Given the description of an element on the screen output the (x, y) to click on. 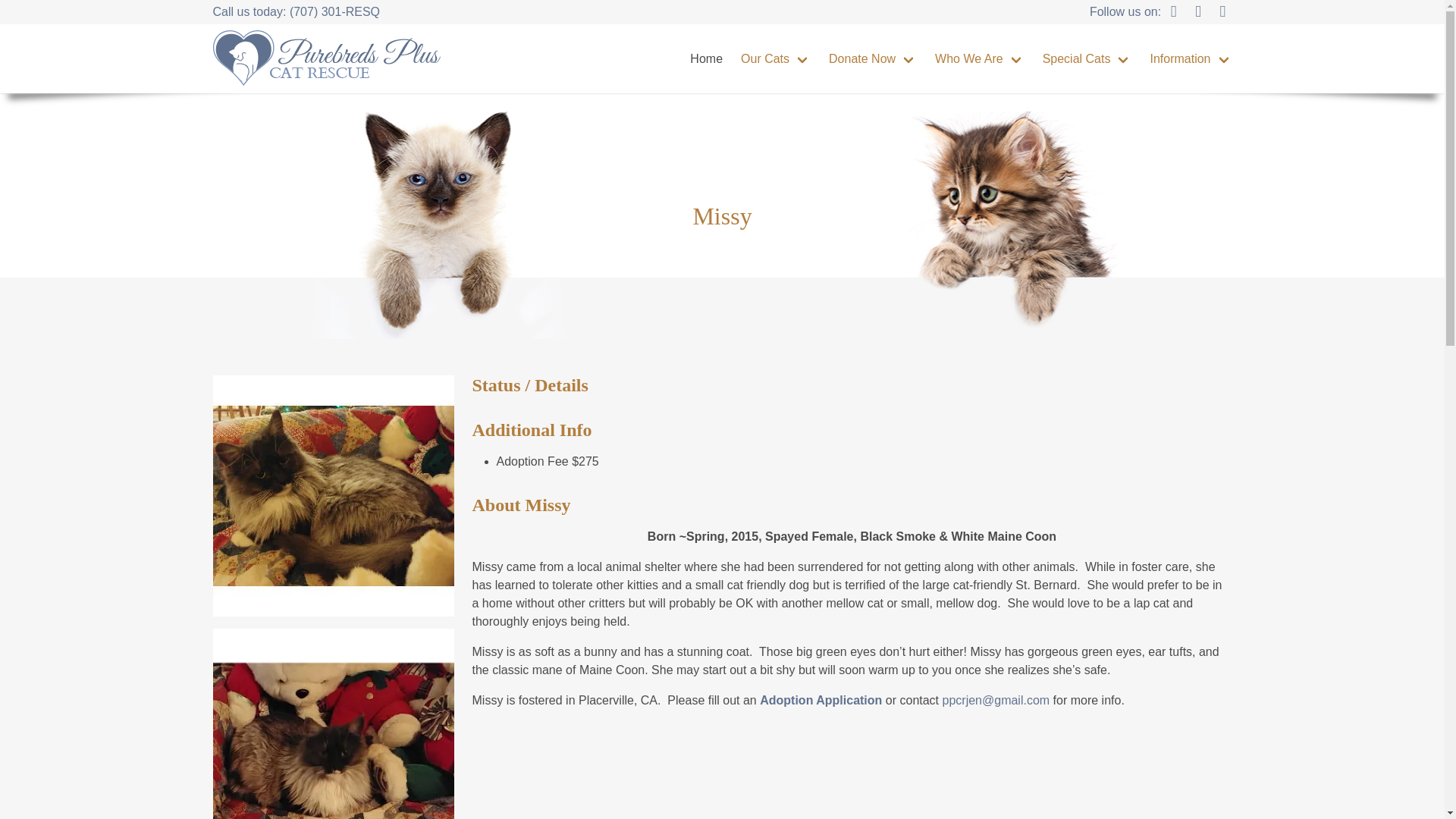
Information (1190, 58)
Special Cats (1087, 58)
Adoption Application (821, 699)
Our Cats (775, 58)
Who We Are (979, 58)
Donate Now (872, 58)
